Given the description of an element on the screen output the (x, y) to click on. 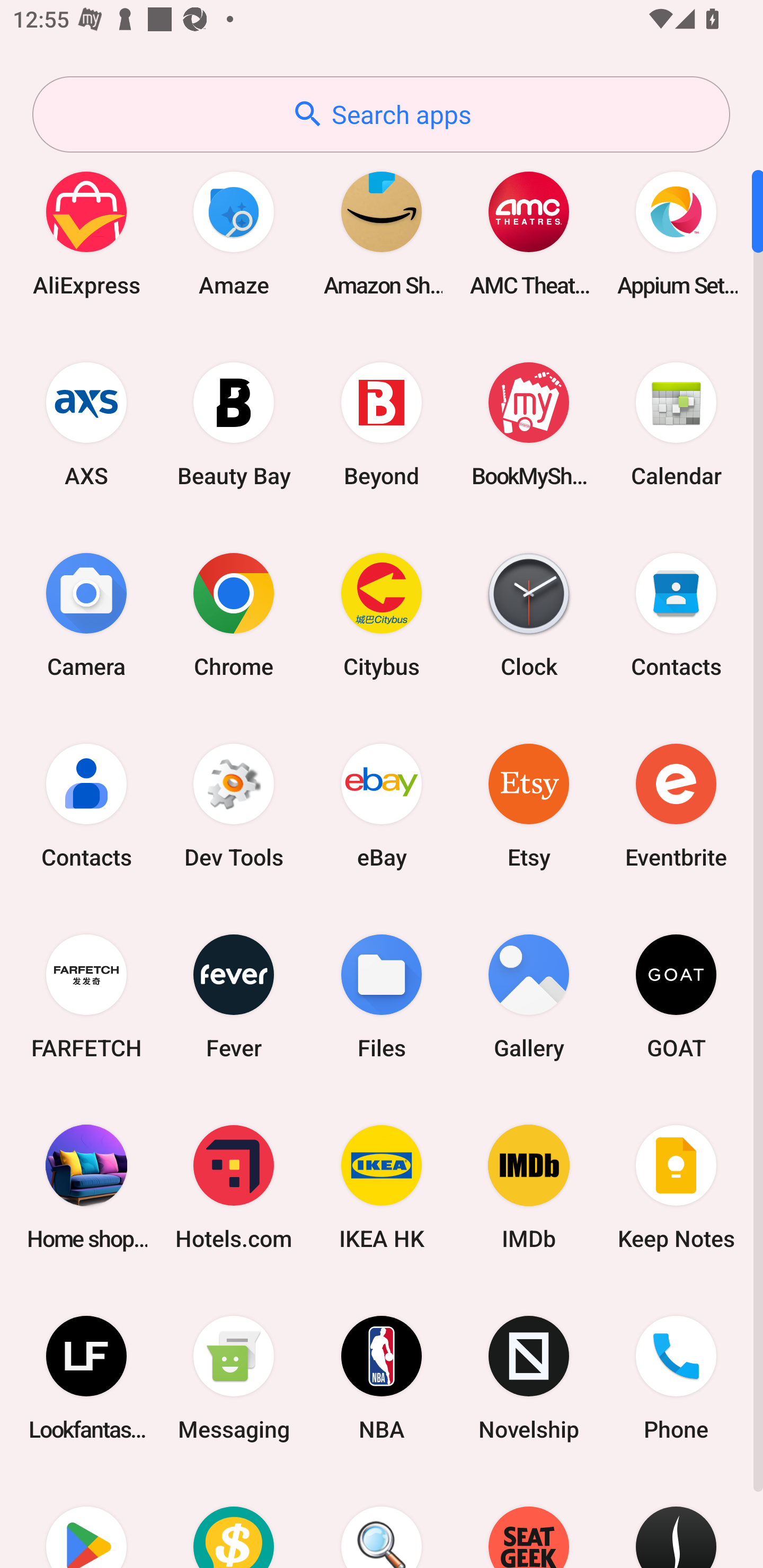
  Search apps (381, 114)
AliExpress (86, 233)
Amaze (233, 233)
Amazon Shopping (381, 233)
AMC Theatres (528, 233)
Appium Settings (676, 233)
AXS (86, 424)
Beauty Bay (233, 424)
Beyond (381, 424)
BookMyShow (528, 424)
Calendar (676, 424)
Camera (86, 614)
Chrome (233, 614)
Citybus (381, 614)
Clock (528, 614)
Contacts (676, 614)
Contacts (86, 805)
Dev Tools (233, 805)
eBay (381, 805)
Etsy (528, 805)
Eventbrite (676, 805)
FARFETCH (86, 996)
Fever (233, 996)
Files (381, 996)
Gallery (528, 996)
GOAT (676, 996)
Home shopping (86, 1186)
Hotels.com (233, 1186)
IKEA HK (381, 1186)
IMDb (528, 1186)
Keep Notes (676, 1186)
Lookfantastic (86, 1377)
Messaging (233, 1377)
NBA (381, 1377)
Novelship (528, 1377)
Phone (676, 1377)
